Given the description of an element on the screen output the (x, y) to click on. 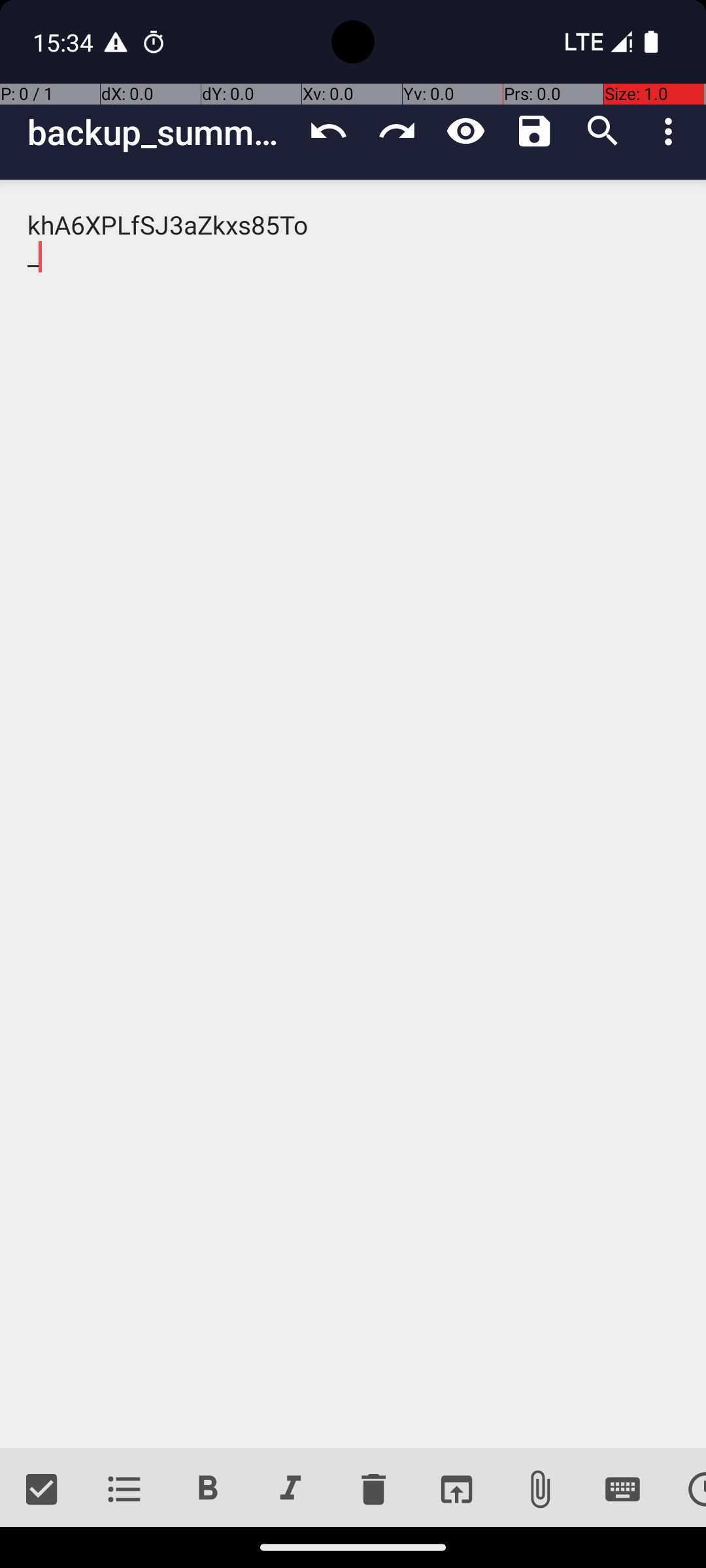
backup_summer_vacation_plans Element type: android.widget.TextView (160, 131)
khA6XPLfSJ3aZkxs85To
__ Element type: android.widget.EditText (353, 813)
